Given the description of an element on the screen output the (x, y) to click on. 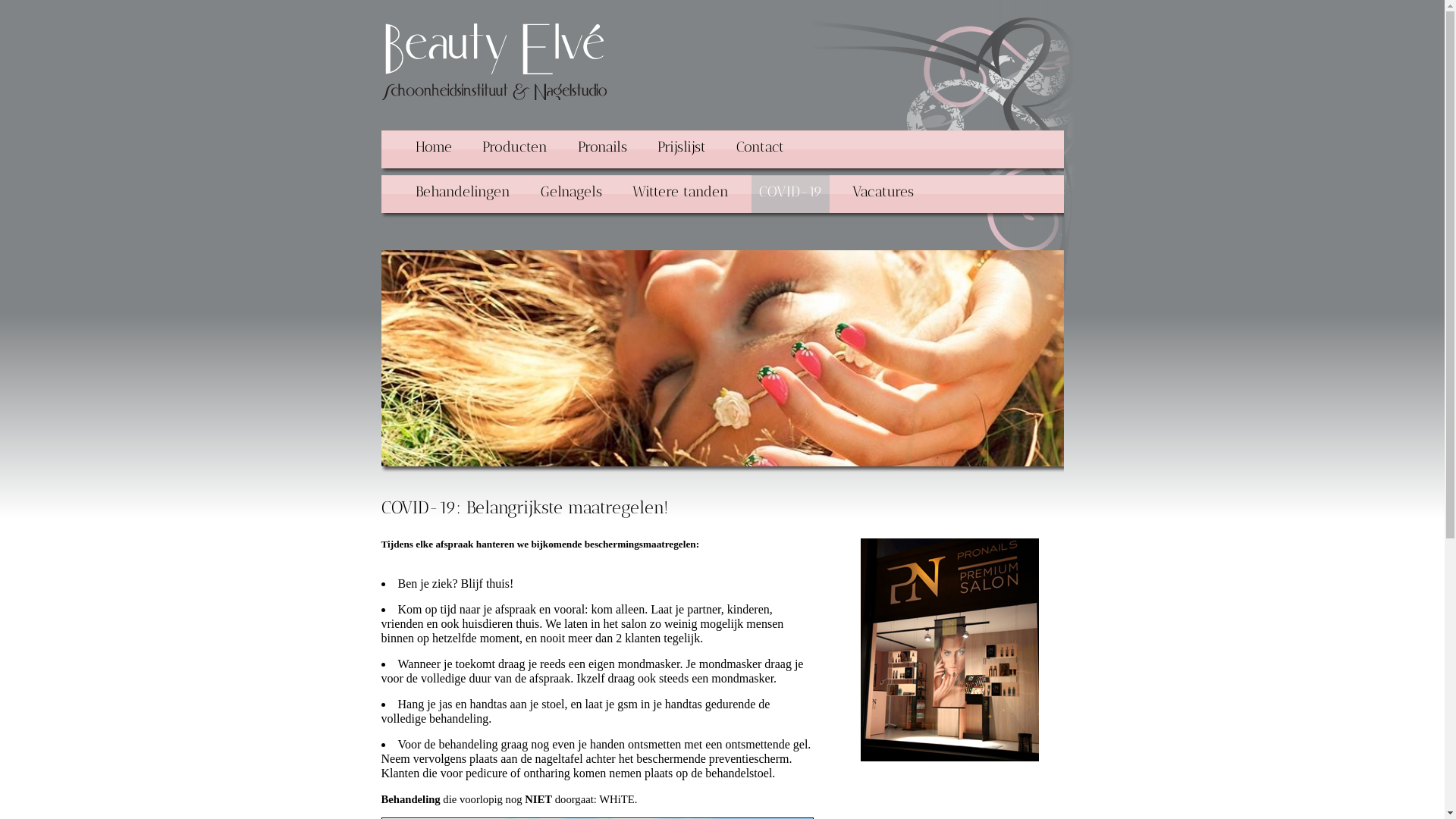
Wittere tanden Element type: text (680, 194)
Vacatures Element type: text (882, 194)
Home Element type: hover (494, 61)
Producten Element type: text (514, 149)
Behandelingen Element type: text (462, 194)
Pronails Element type: text (602, 149)
Gelnagels Element type: text (570, 194)
Contact Element type: text (759, 149)
COVID-19 Element type: text (789, 194)
Prijslijst Element type: text (680, 149)
Home Element type: text (433, 149)
